Given the description of an element on the screen output the (x, y) to click on. 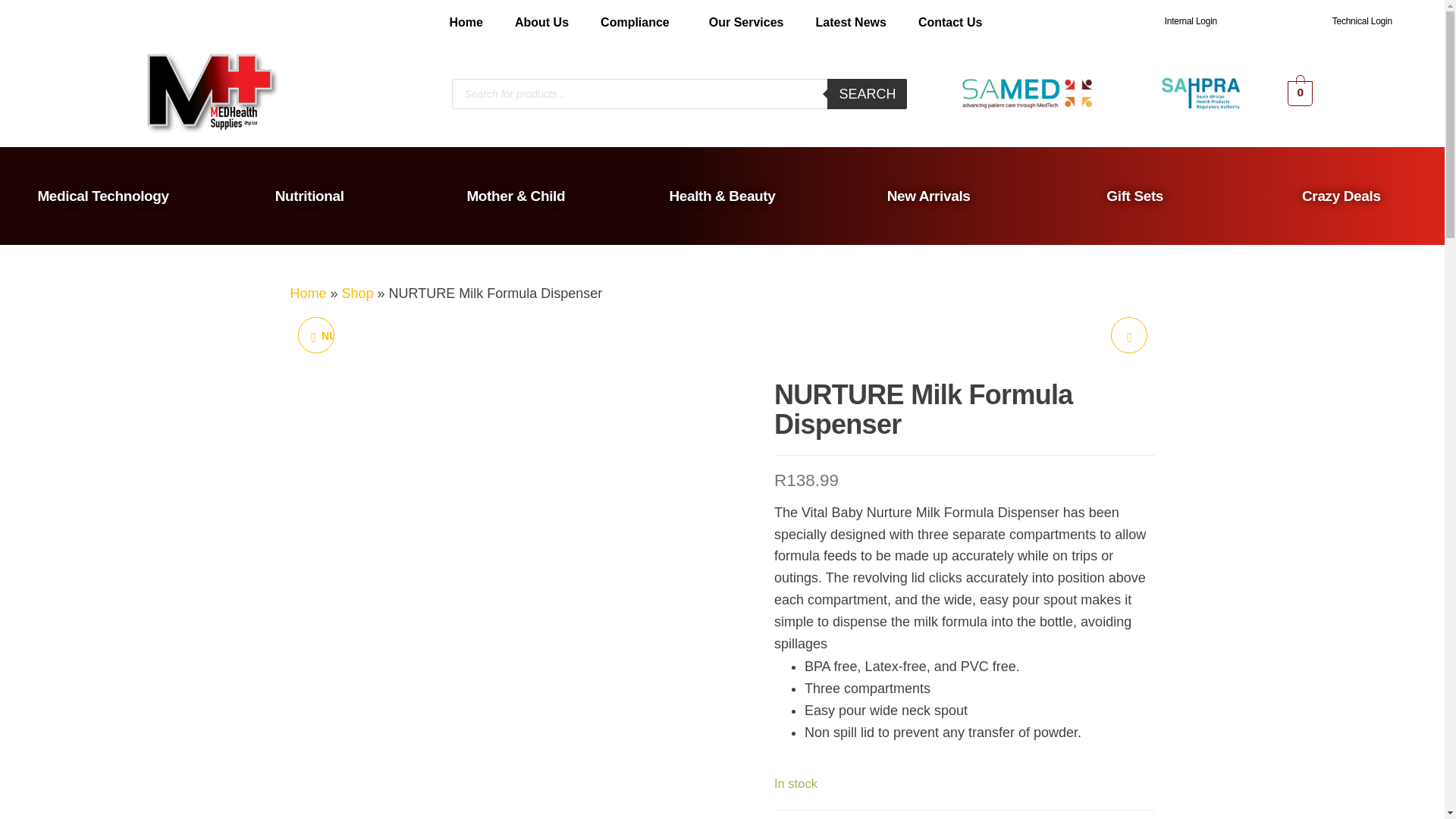
Contact Us (949, 22)
Latest News (850, 22)
0 (1300, 92)
New Arrivals (928, 195)
Our Services (746, 22)
Technical Login (1361, 20)
Internal Login (1190, 20)
SEARCH (867, 93)
Home (466, 22)
NURTURE SILICONE FEED ASSIST TEATS SLOW FLOW - 2PK (1128, 334)
